Given the description of an element on the screen output the (x, y) to click on. 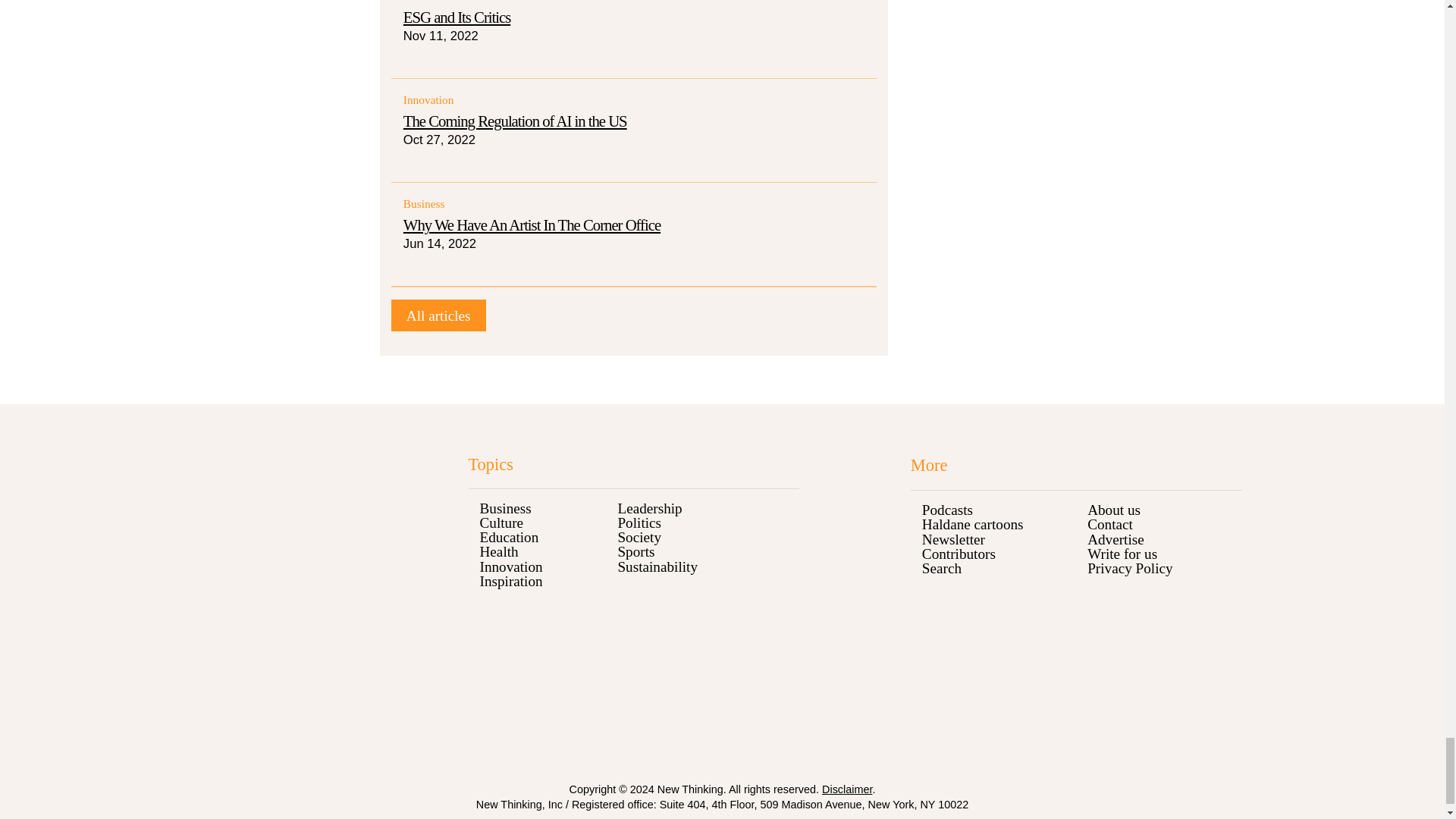
John B. Quinn (438, 316)
